Given the description of an element on the screen output the (x, y) to click on. 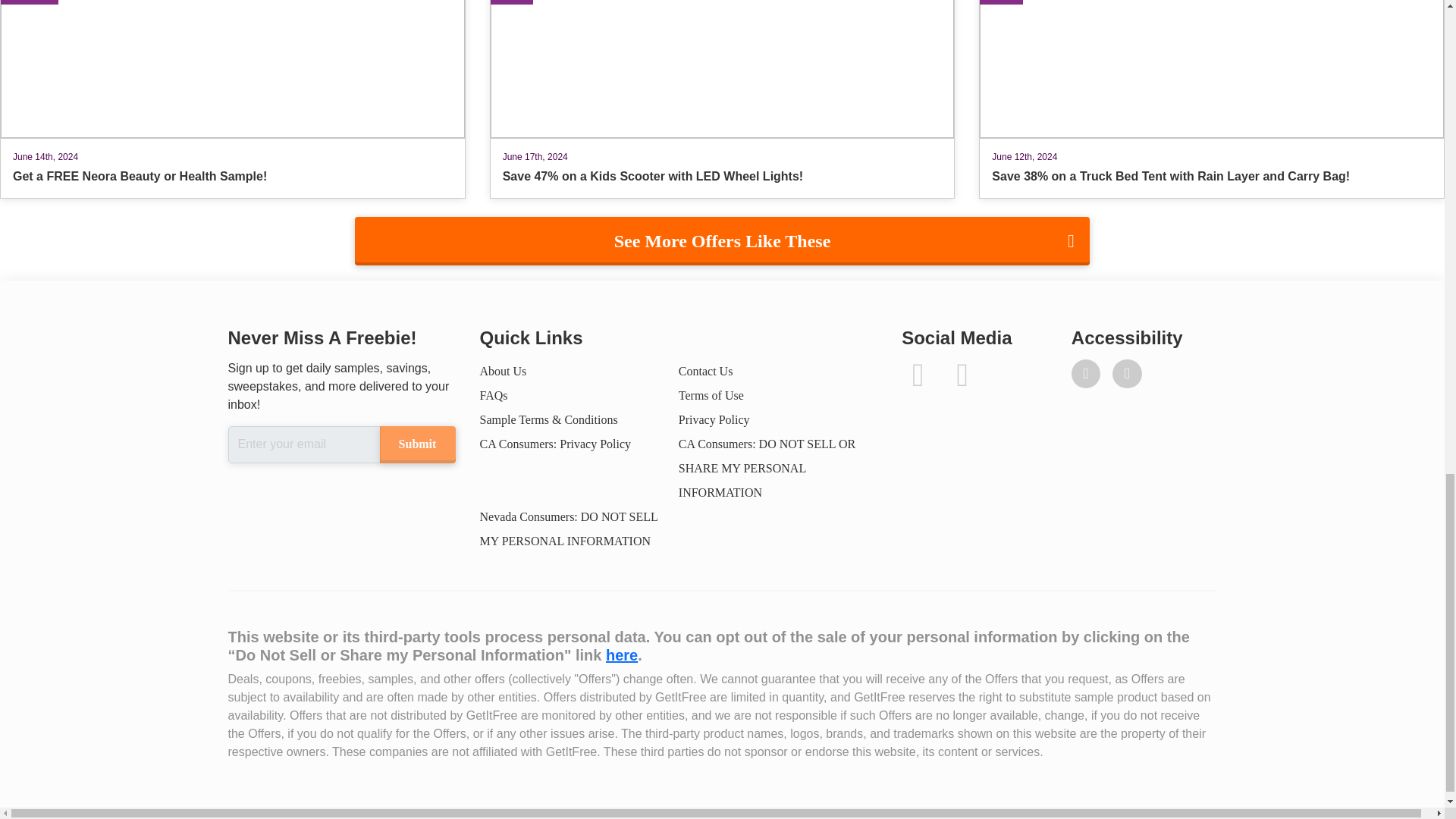
Privacy Policy (713, 419)
Terms of Use (711, 395)
CA Consumers: Privacy Policy (554, 443)
Submit (416, 444)
Nevada Consumers: DO NOT SELL MY PERSONAL INFORMATION (568, 528)
CA Consumers: DO NOT SELL OR SHARE MY PERSONAL INFORMATION (767, 467)
About Us (502, 370)
See More Offers Like These (722, 241)
FAQs (492, 395)
here (621, 655)
Contact Us (705, 370)
